Given the description of an element on the screen output the (x, y) to click on. 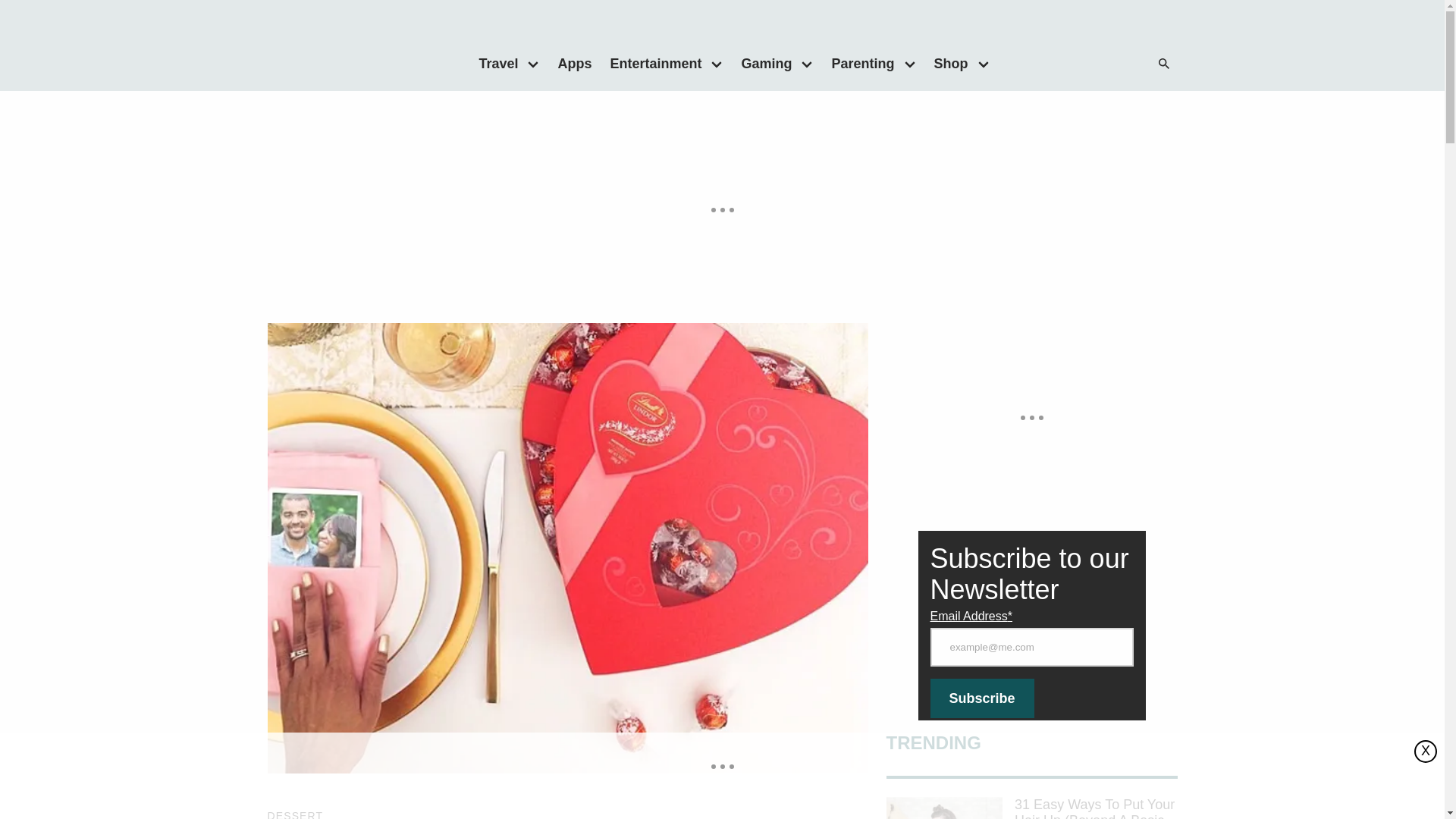
Open menu (533, 63)
Open menu (807, 63)
Apps (573, 63)
Gaming (762, 63)
DESSERT (294, 814)
Parenting (857, 63)
Open menu (982, 63)
Instagram (1109, 63)
Facebook (1048, 63)
Twitter (1079, 63)
